Given the description of an element on the screen output the (x, y) to click on. 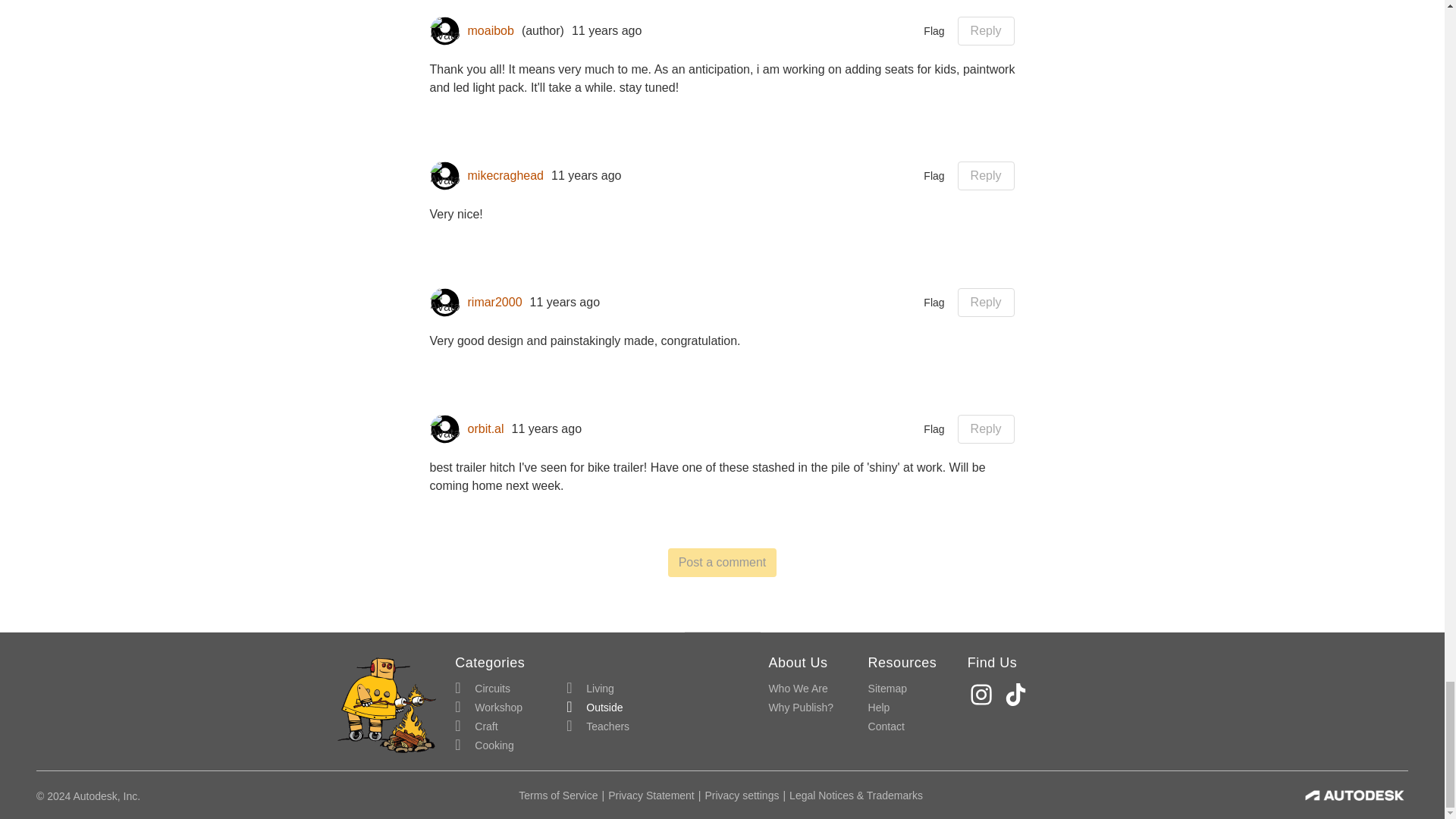
2013-07-26 19:30:50.0 (586, 175)
2013-07-26 14:16:28.0 (547, 428)
2013-07-26 18:39:07.0 (564, 302)
2013-07-26 23:07:05.0 (607, 30)
